Given the description of an element on the screen output the (x, y) to click on. 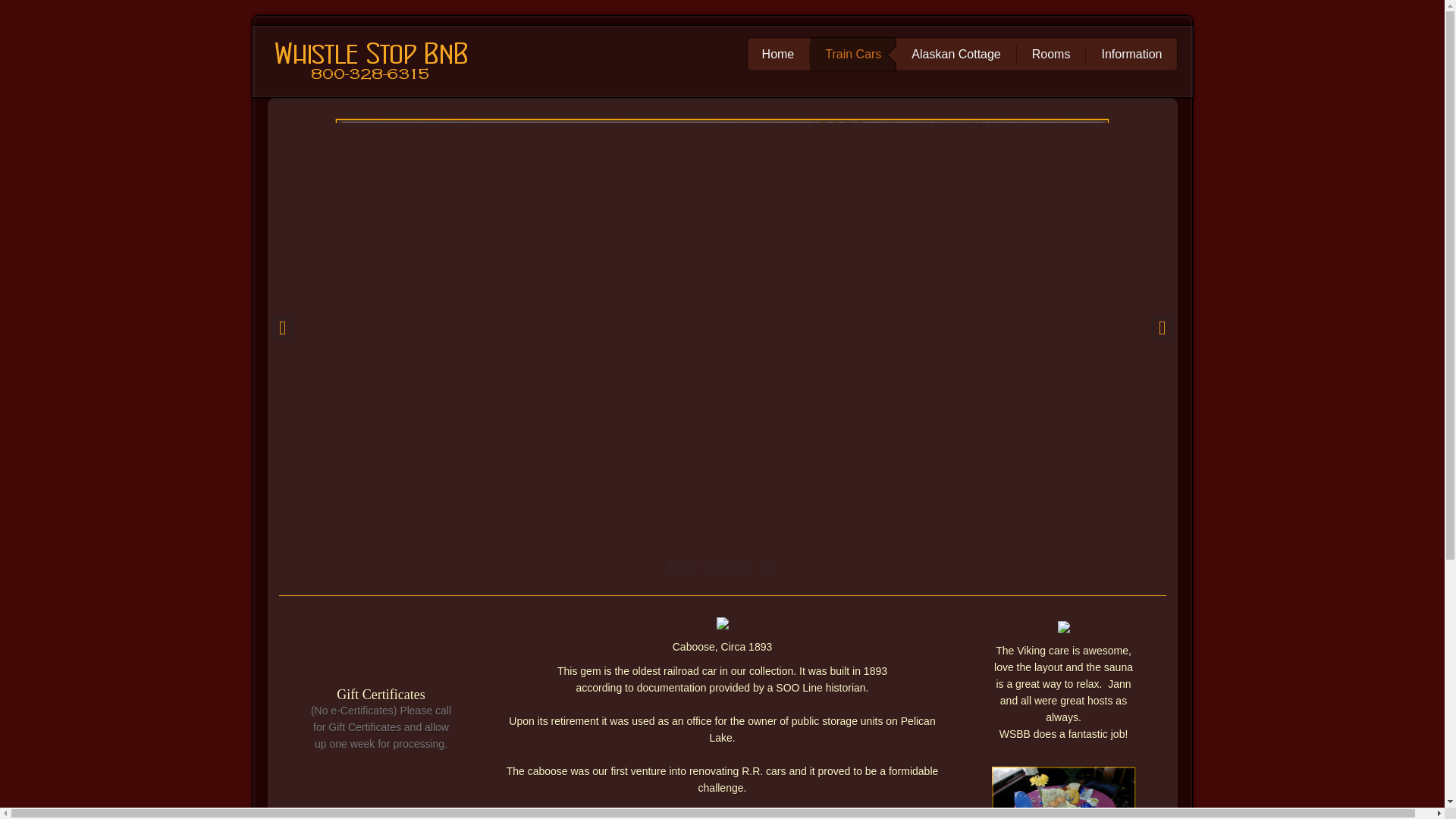
4 (704, 566)
9 (762, 566)
8 (749, 566)
Alaskan Cottage (956, 54)
2 (682, 566)
Rooms (1051, 54)
10 (772, 566)
1 (671, 566)
6 (727, 566)
Rooms (1051, 54)
Train Cars (852, 54)
Previous (281, 331)
Information (1131, 54)
5 (716, 566)
Next (1161, 331)
